Given the description of an element on the screen output the (x, y) to click on. 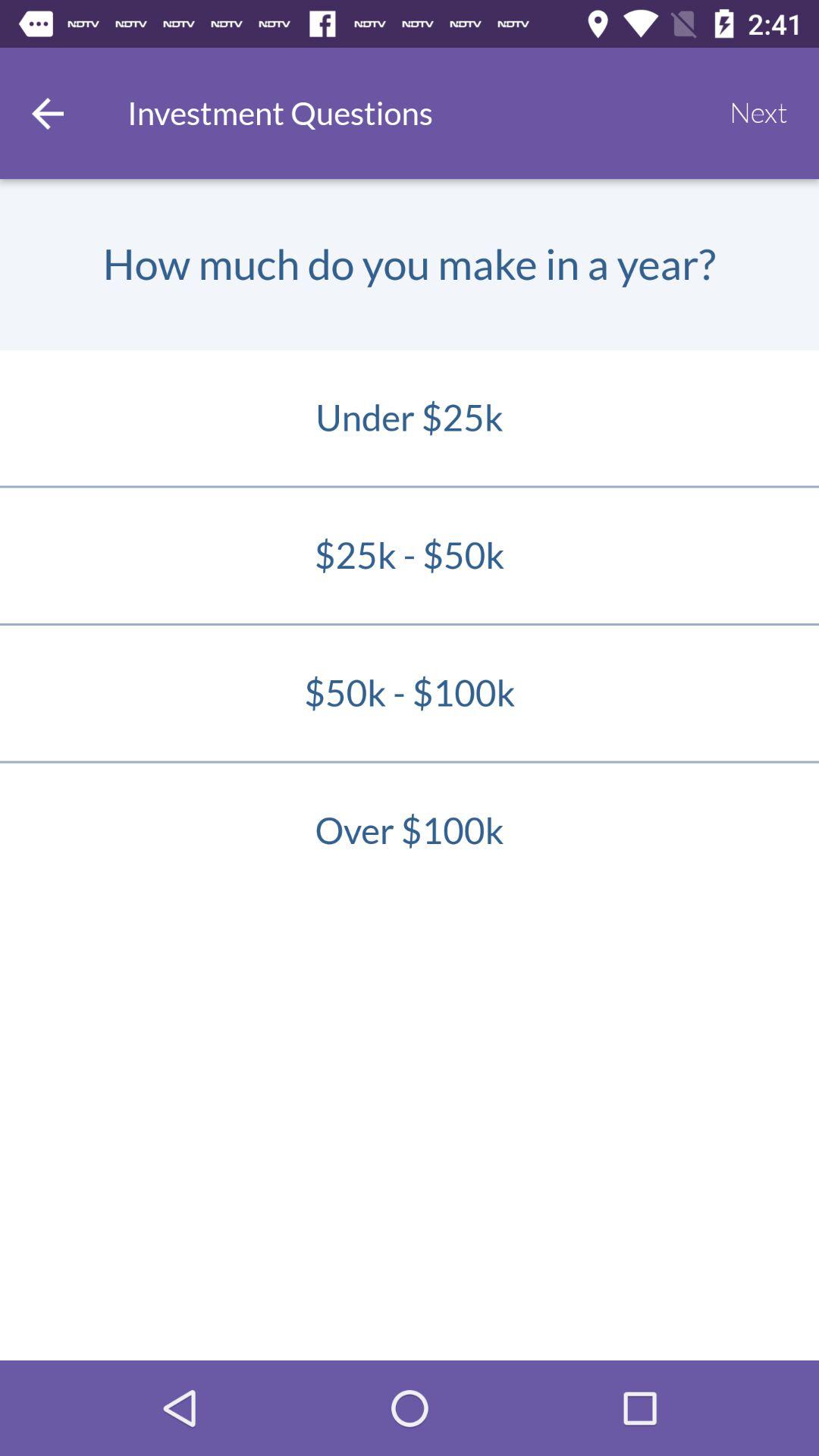
back to previous (47, 113)
